Given the description of an element on the screen output the (x, y) to click on. 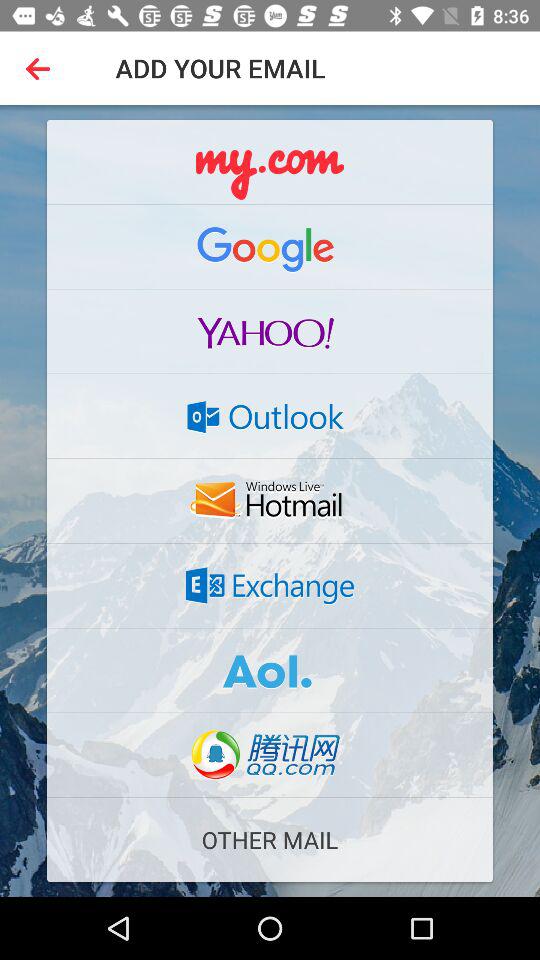
click to add yahoo email (269, 331)
